Given the description of an element on the screen output the (x, y) to click on. 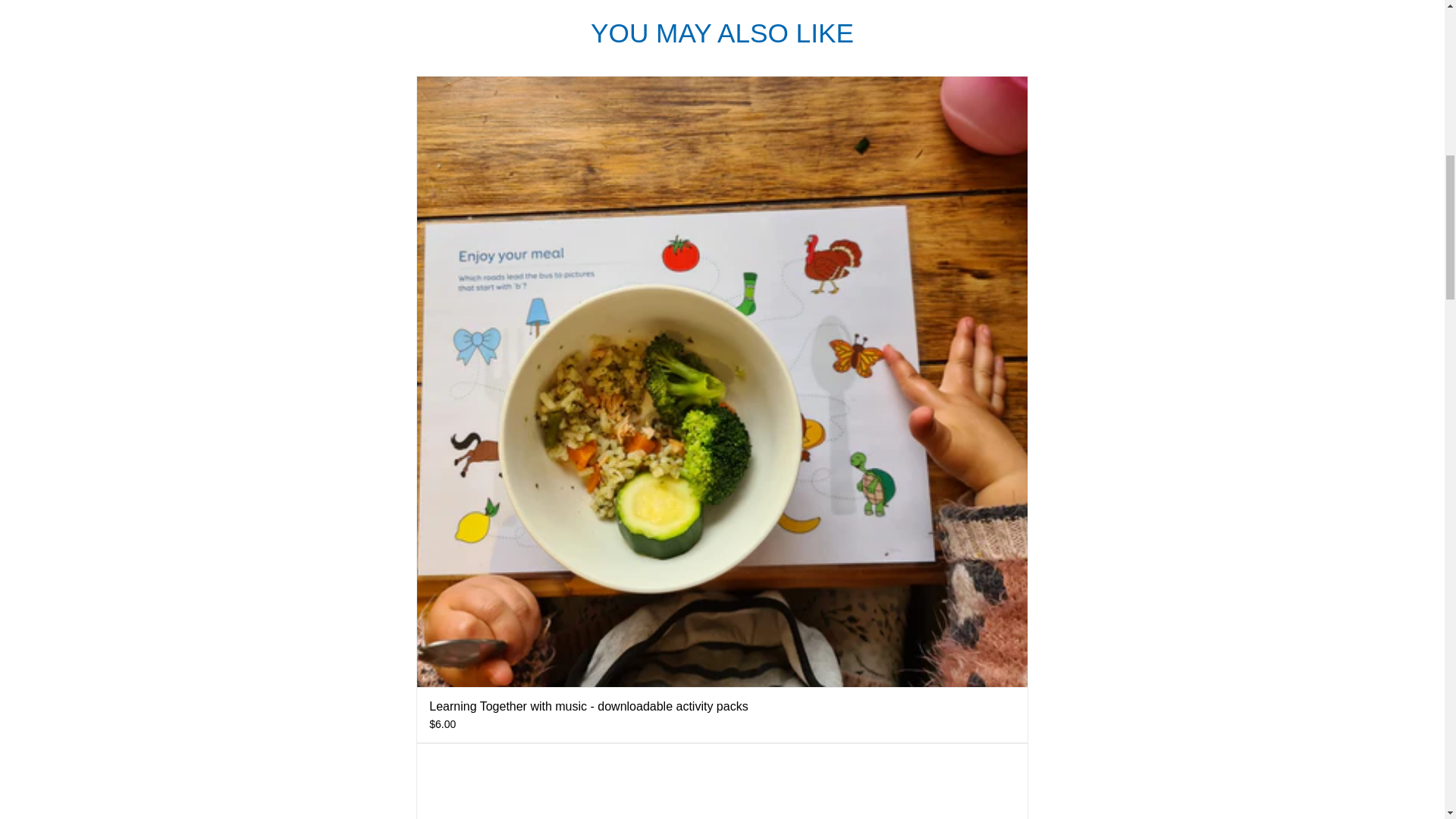
Learning Together with music - downloadable activity packs (588, 706)
